Given the description of an element on the screen output the (x, y) to click on. 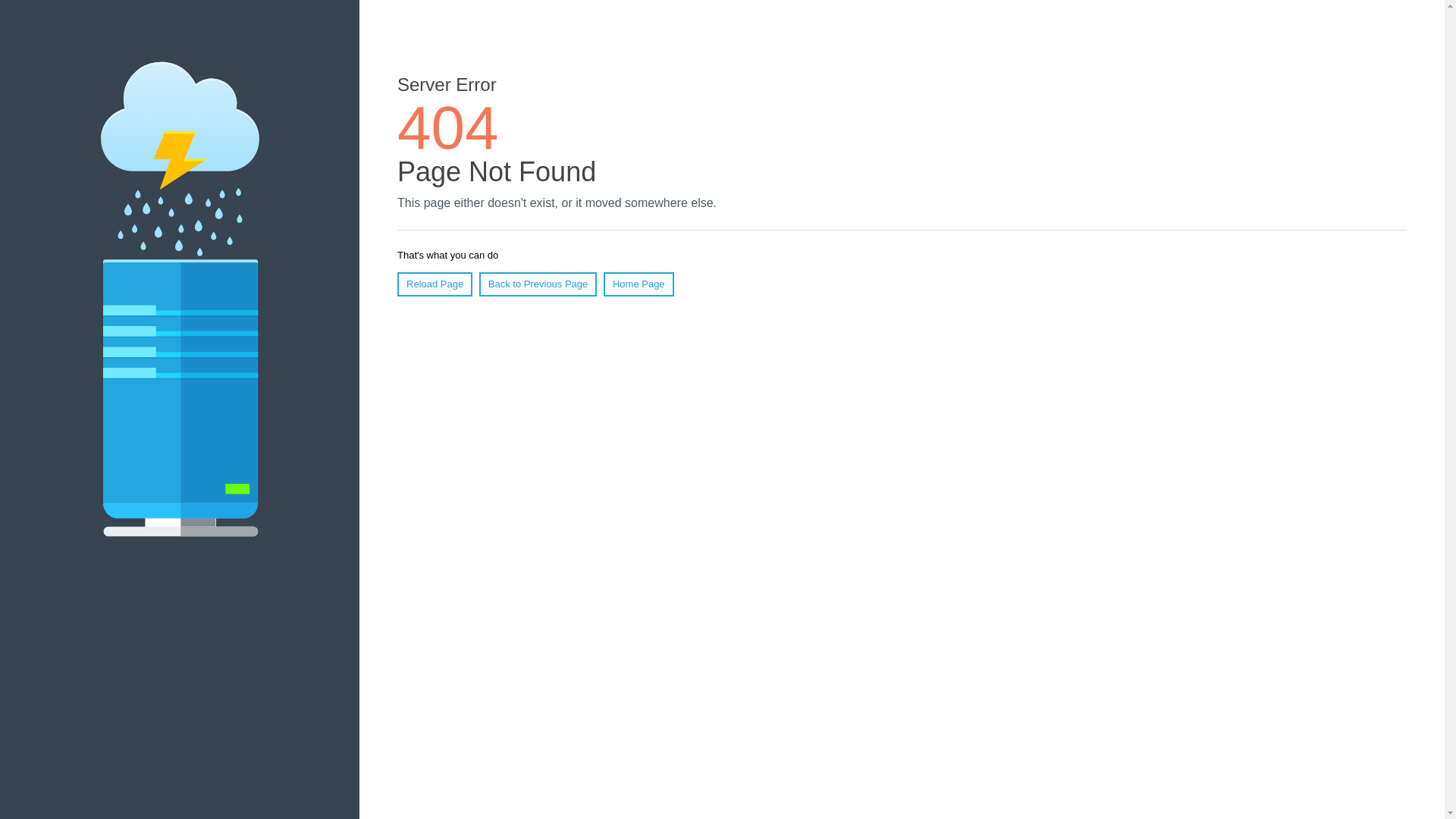
Back to Previous Page Element type: text (538, 284)
Reload Page Element type: text (434, 284)
Home Page Element type: text (638, 284)
